Given the description of an element on the screen output the (x, y) to click on. 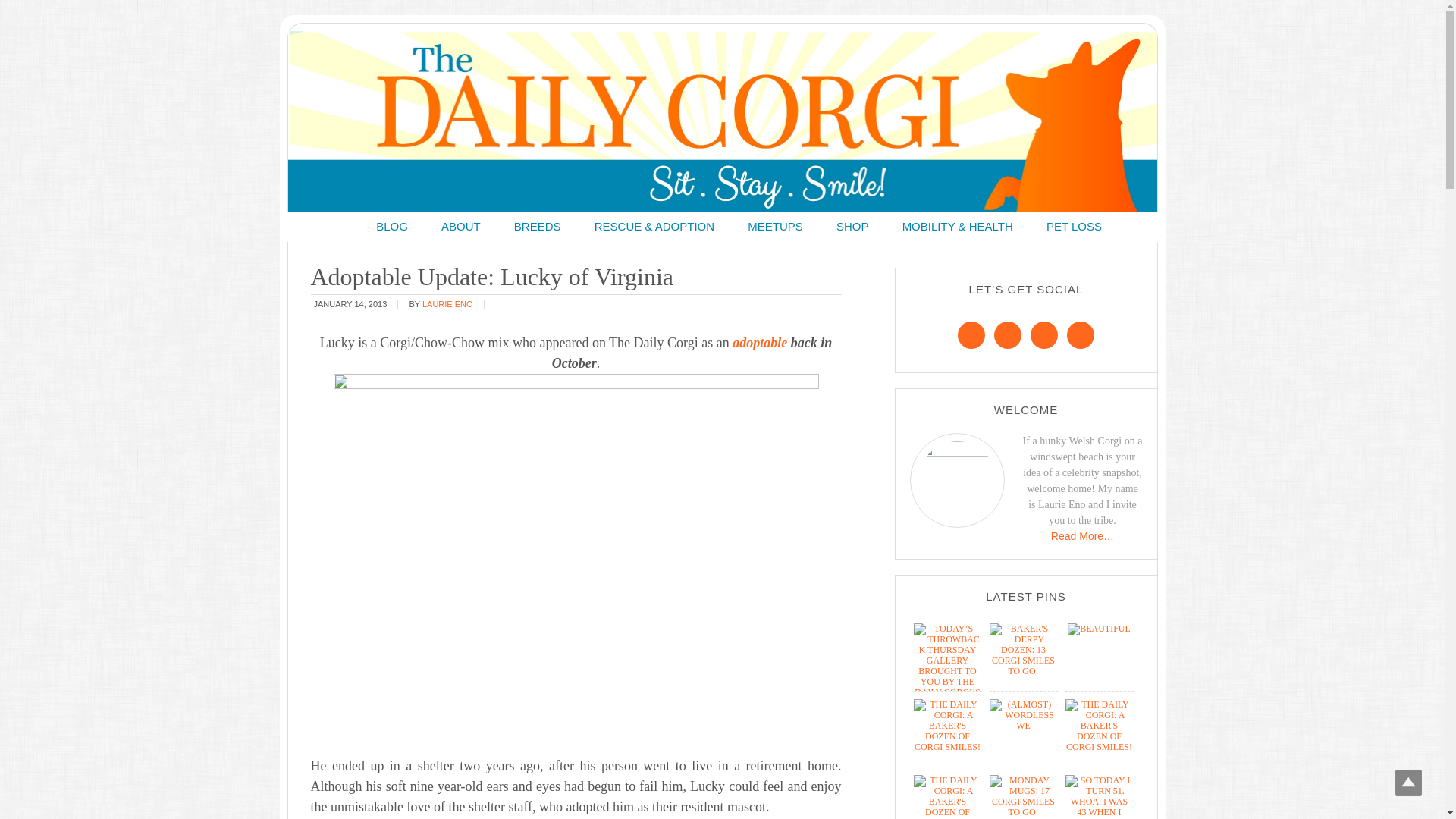
adoptable (759, 342)
BLOG (392, 226)
SHOP (852, 226)
LAURIE ENO (447, 302)
ABOUT (461, 226)
Beautiful - Pinned on Mar 27, 2017 (1099, 628)
MEETUPS (775, 226)
BREEDS (537, 226)
Monday Mugs: 17 Corgi Smiles To Go! - Pinned on Mar 20, 2017 (1022, 811)
PET LOSS (1073, 226)
Scroll to Top (1408, 782)
